Given the description of an element on the screen output the (x, y) to click on. 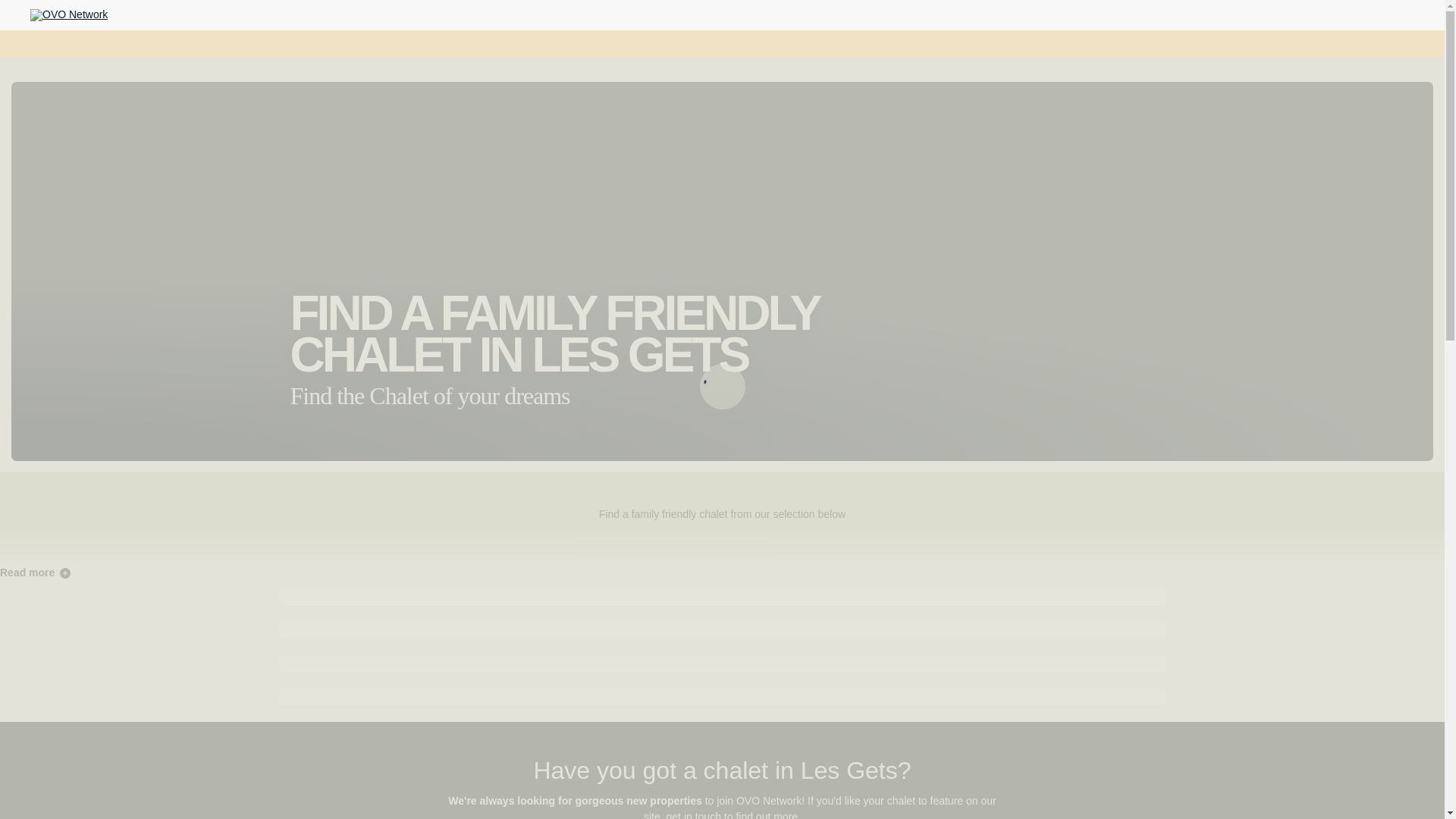
Read more (34, 571)
